Given the description of an element on the screen output the (x, y) to click on. 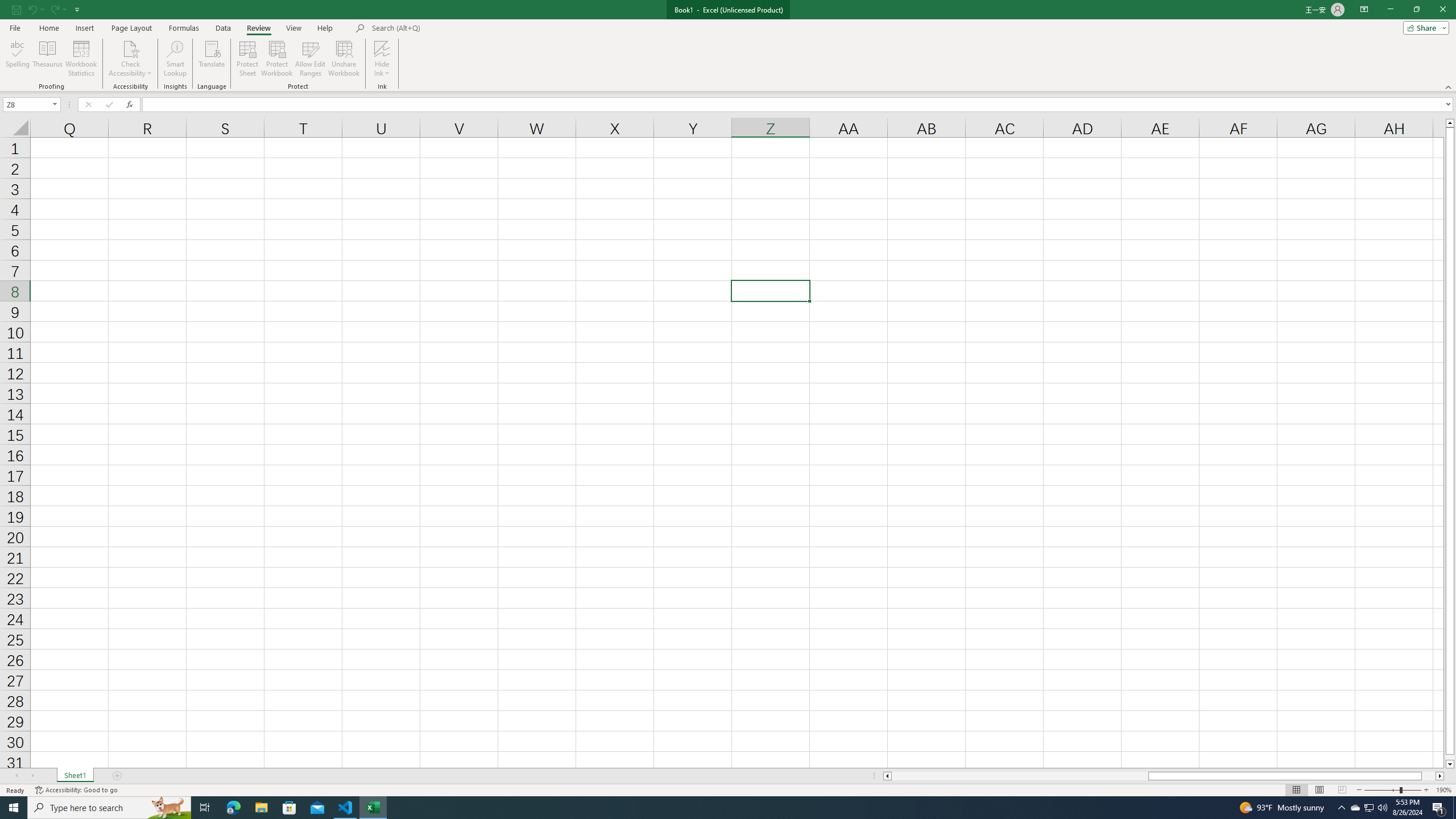
Translate (211, 58)
Allow Edit Ranges (310, 58)
Hide Ink (381, 48)
